Given the description of an element on the screen output the (x, y) to click on. 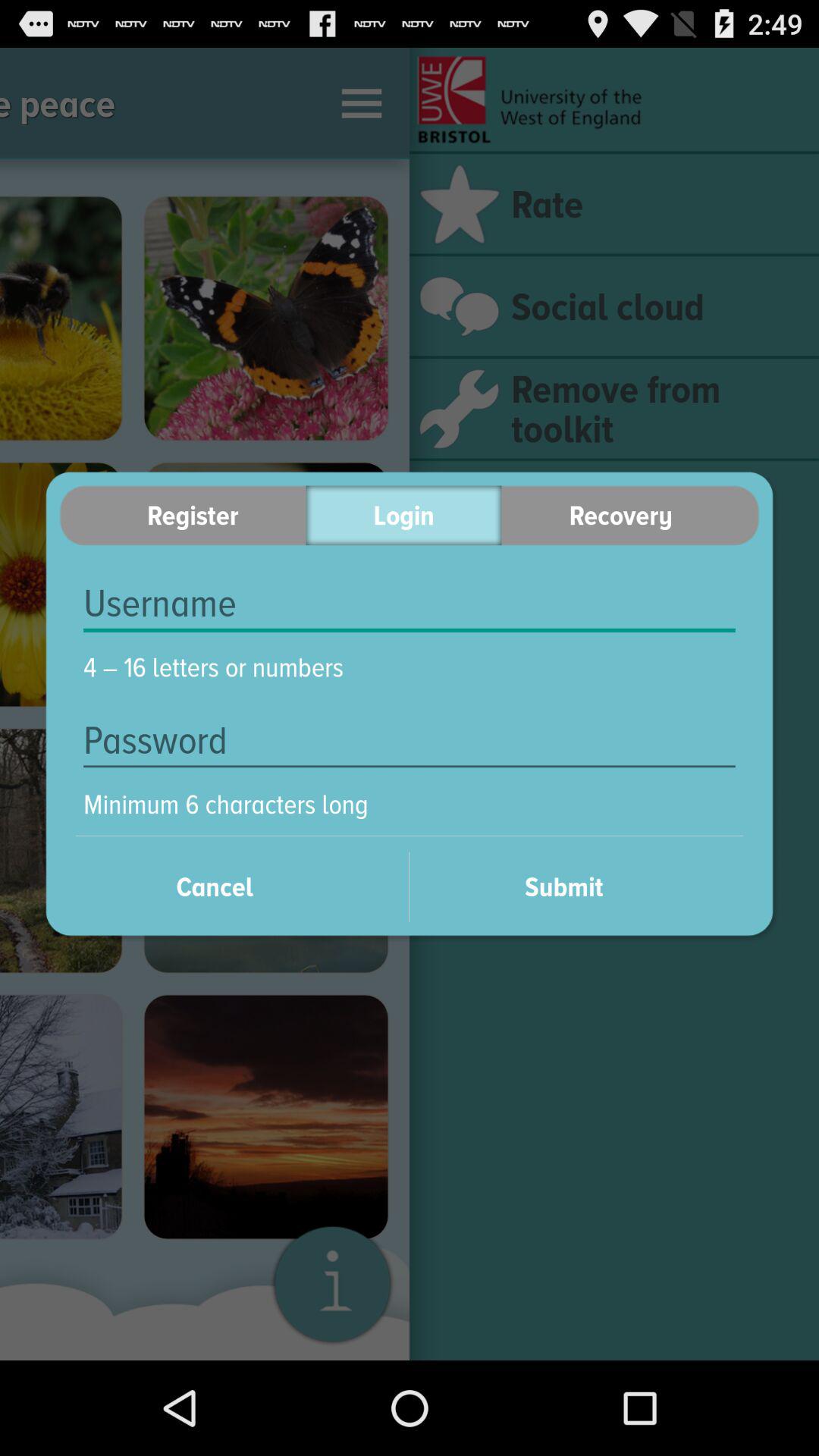
launch the icon below the register item (409, 603)
